Given the description of an element on the screen output the (x, y) to click on. 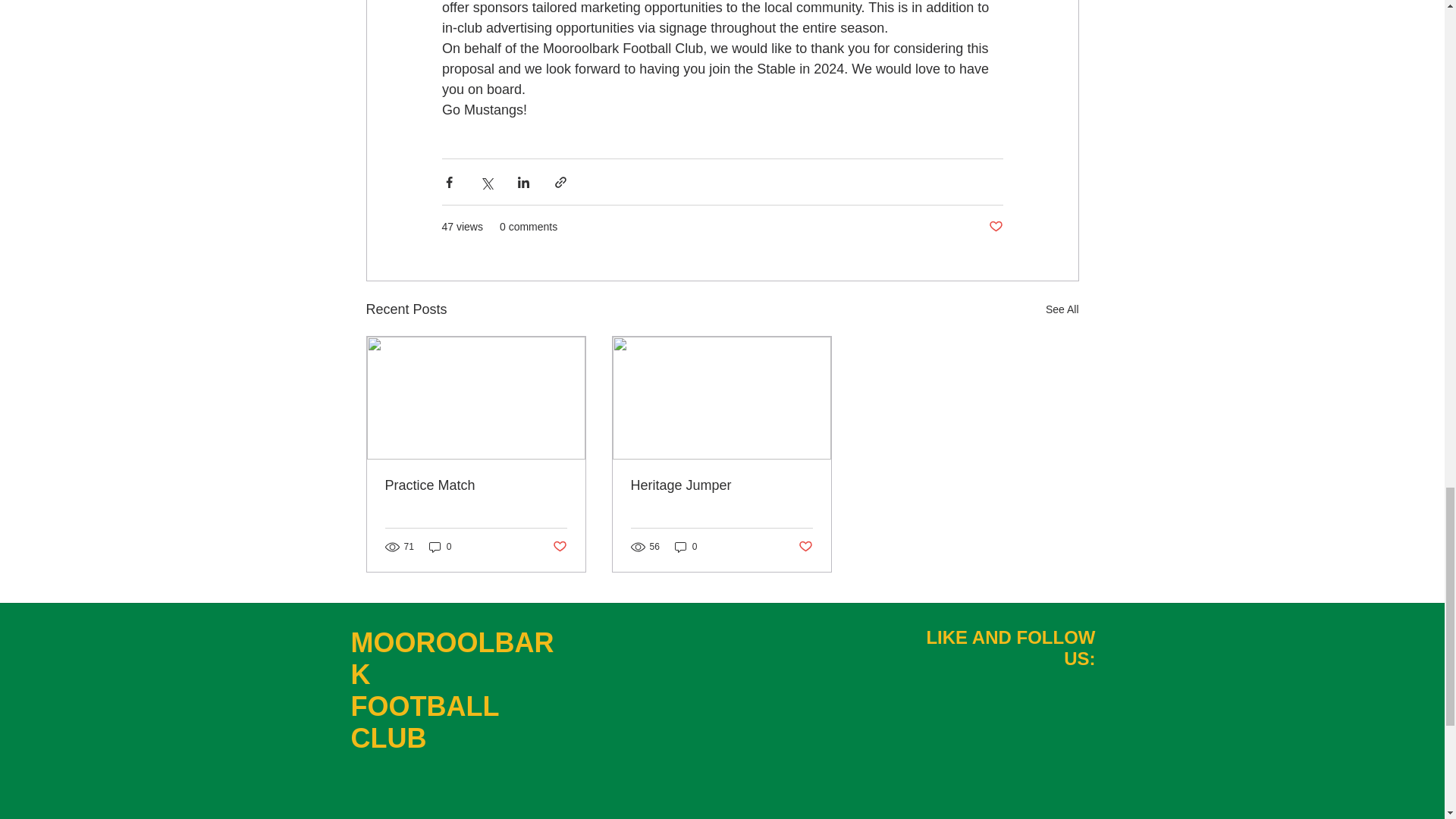
Post not marked as liked (995, 227)
See All (1061, 309)
Post not marked as liked (558, 546)
0 (440, 546)
Practice Match (476, 485)
